Given the description of an element on the screen output the (x, y) to click on. 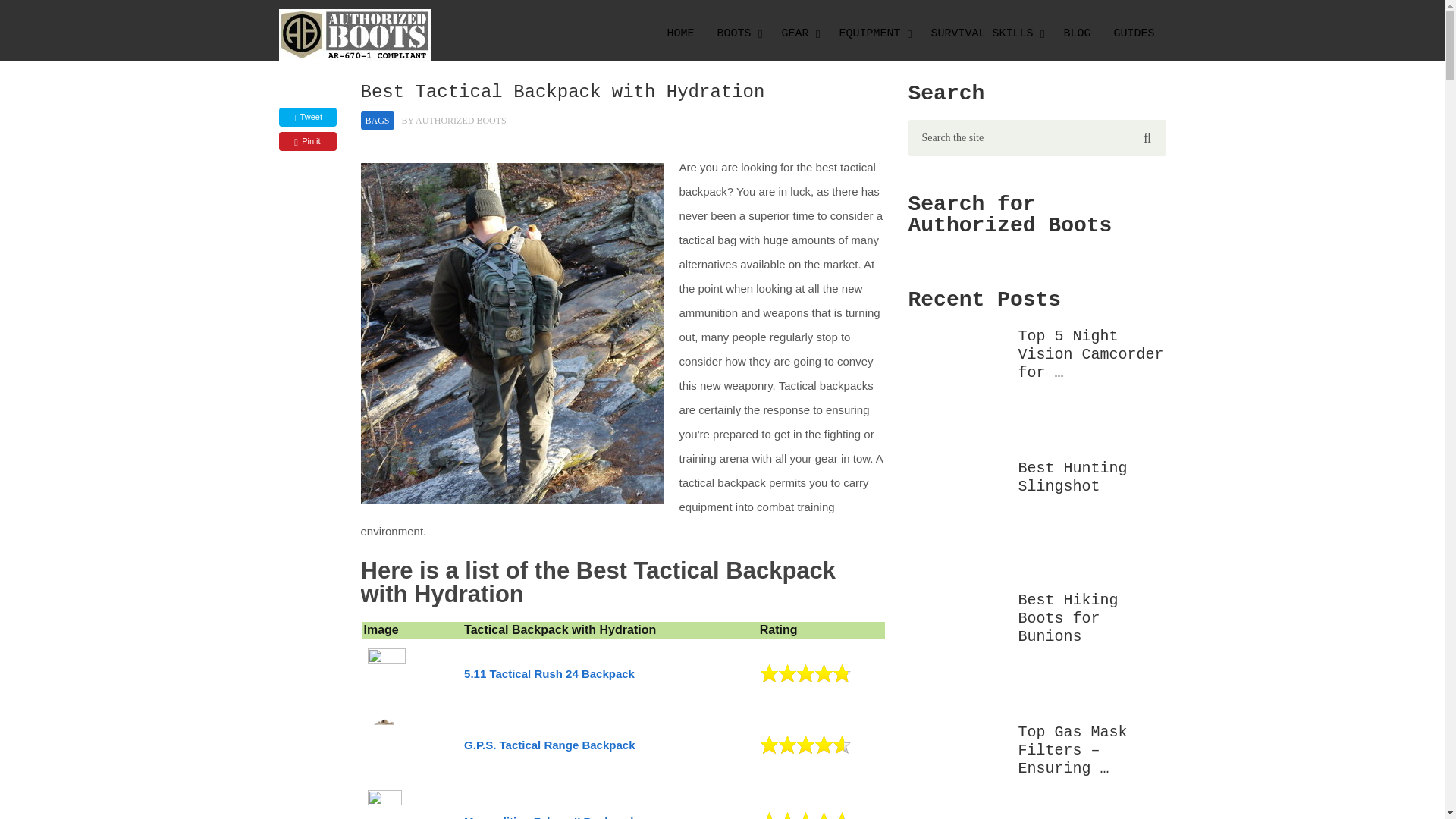
Posts by Authorized Boots (460, 120)
GUIDES (1134, 34)
Tweet (307, 116)
View all posts in Bags (377, 120)
EQUIPMENT (872, 34)
HOME (679, 34)
GEAR (798, 34)
SURVIVAL SKILLS (984, 34)
AUTHORIZED BOOTS (460, 120)
BLOG (1076, 34)
BOOTS (737, 34)
BAGS (377, 120)
Pin it (307, 140)
5.11 Tactical Rush 24 Backpack (549, 673)
G.P.S. Tactical Range Backpack (549, 744)
